Given the description of an element on the screen output the (x, y) to click on. 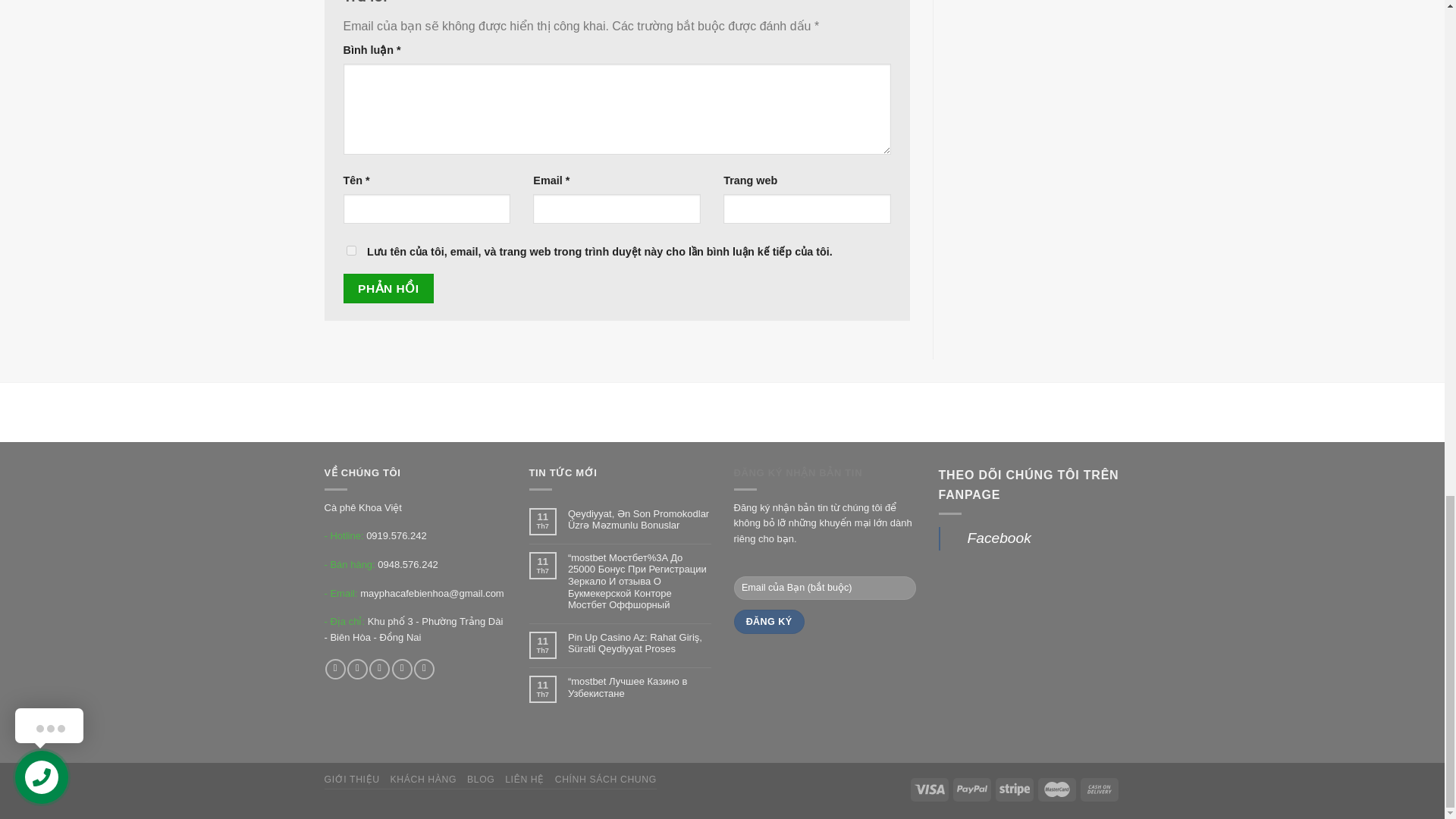
yes (350, 250)
